Given the description of an element on the screen output the (x, y) to click on. 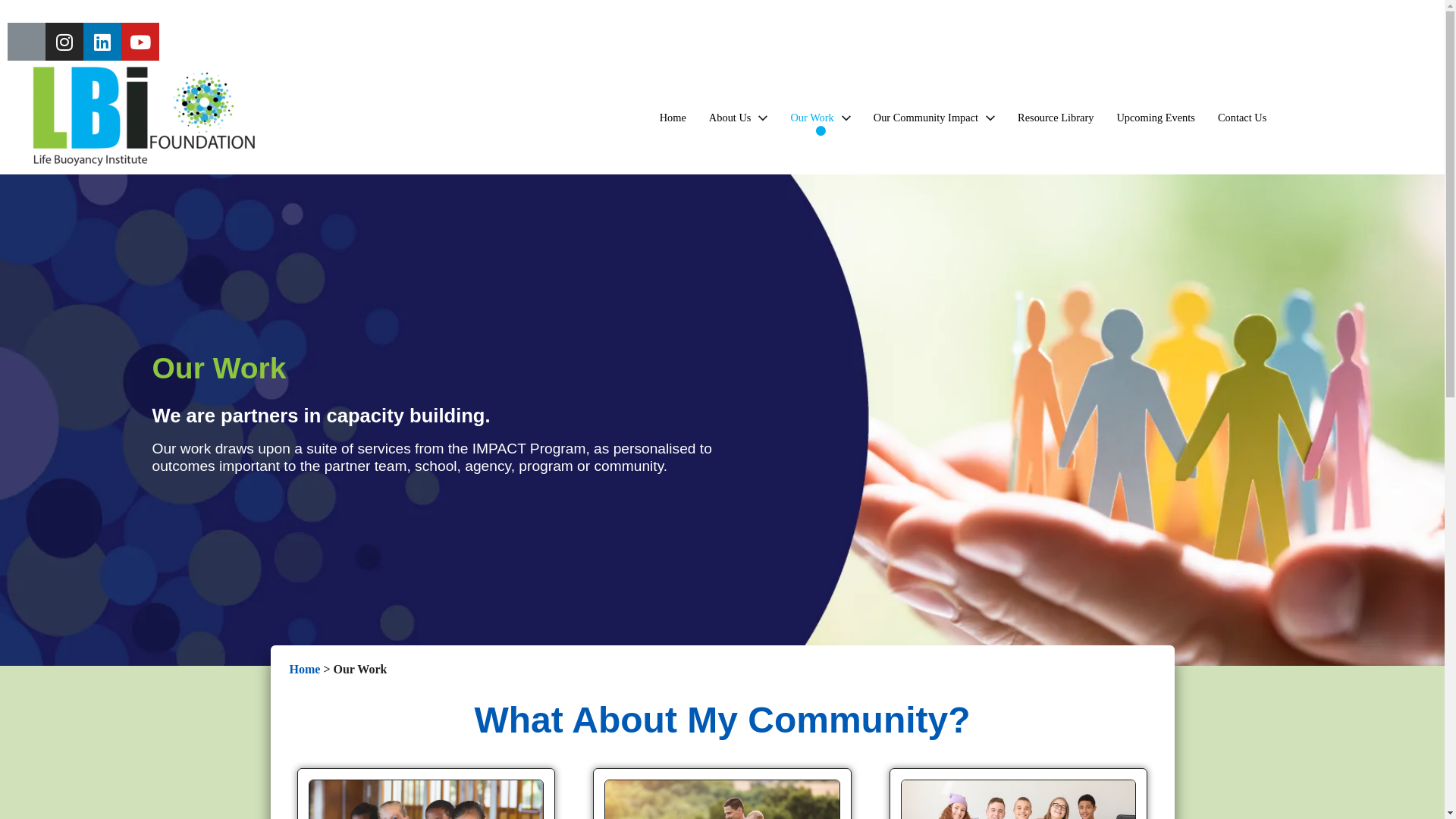
Resource Library Element type: text (1055, 118)
Our Work Element type: text (819, 118)
Home Element type: text (304, 668)
Contact Us Element type: text (1241, 118)
Home Element type: text (672, 118)
About Us Element type: text (738, 118)
Upcoming Events Element type: text (1155, 118)
Our Community Impact Element type: text (934, 118)
